Given the description of an element on the screen output the (x, y) to click on. 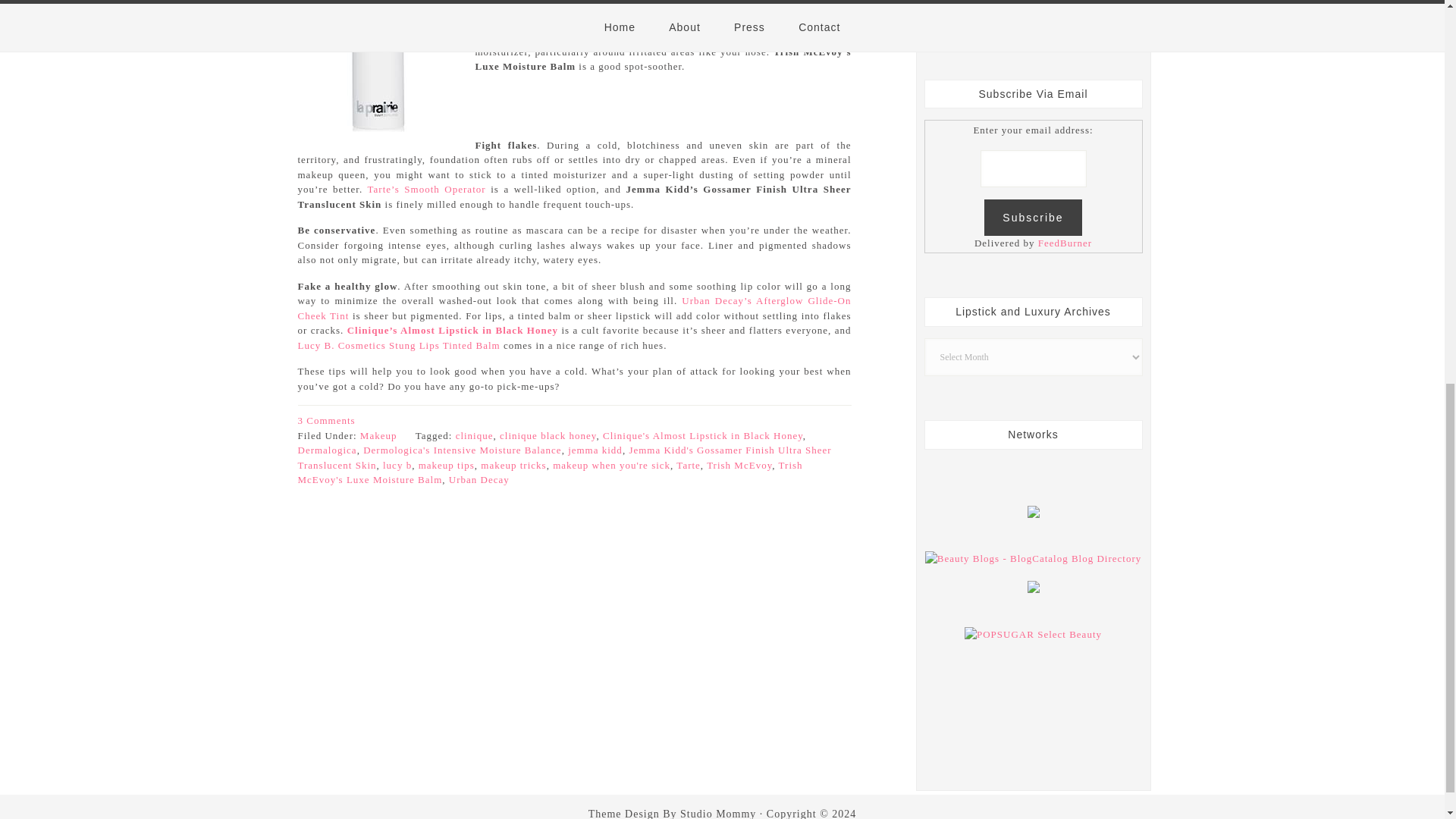
jemma kidd (595, 449)
makeup when you're sick (611, 464)
clinique black honey (547, 435)
Tarte (688, 464)
Lucy B. Cosmetics Stung Lips Tinted Balm (398, 345)
Dermalogica (326, 449)
Clinique's Almost Lipstick in Black Honey (702, 435)
Subscribe (1032, 217)
3 Comments (326, 419)
makeup tricks (513, 464)
